Given the description of an element on the screen output the (x, y) to click on. 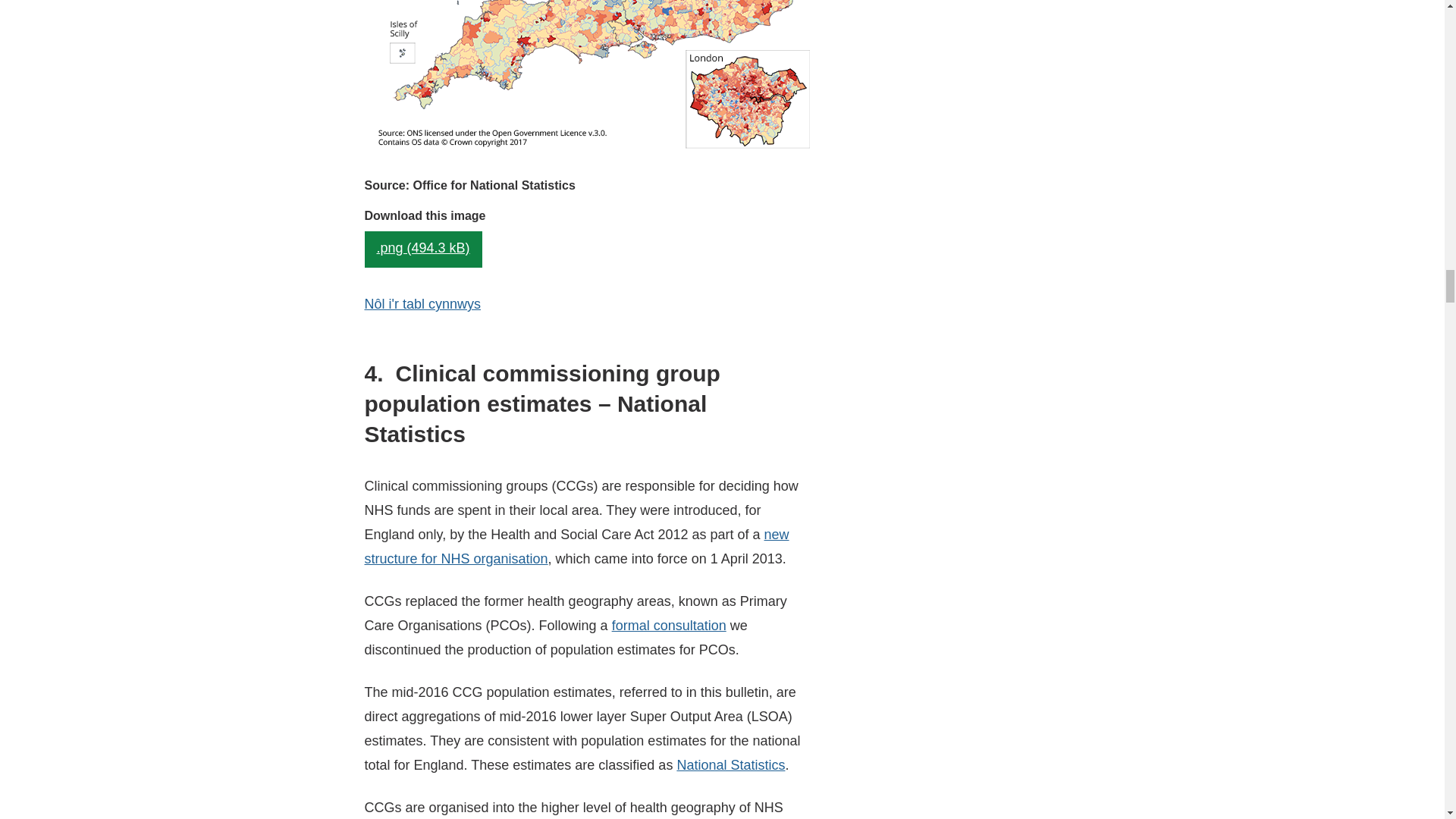
Download as png (422, 248)
